Given the description of an element on the screen output the (x, y) to click on. 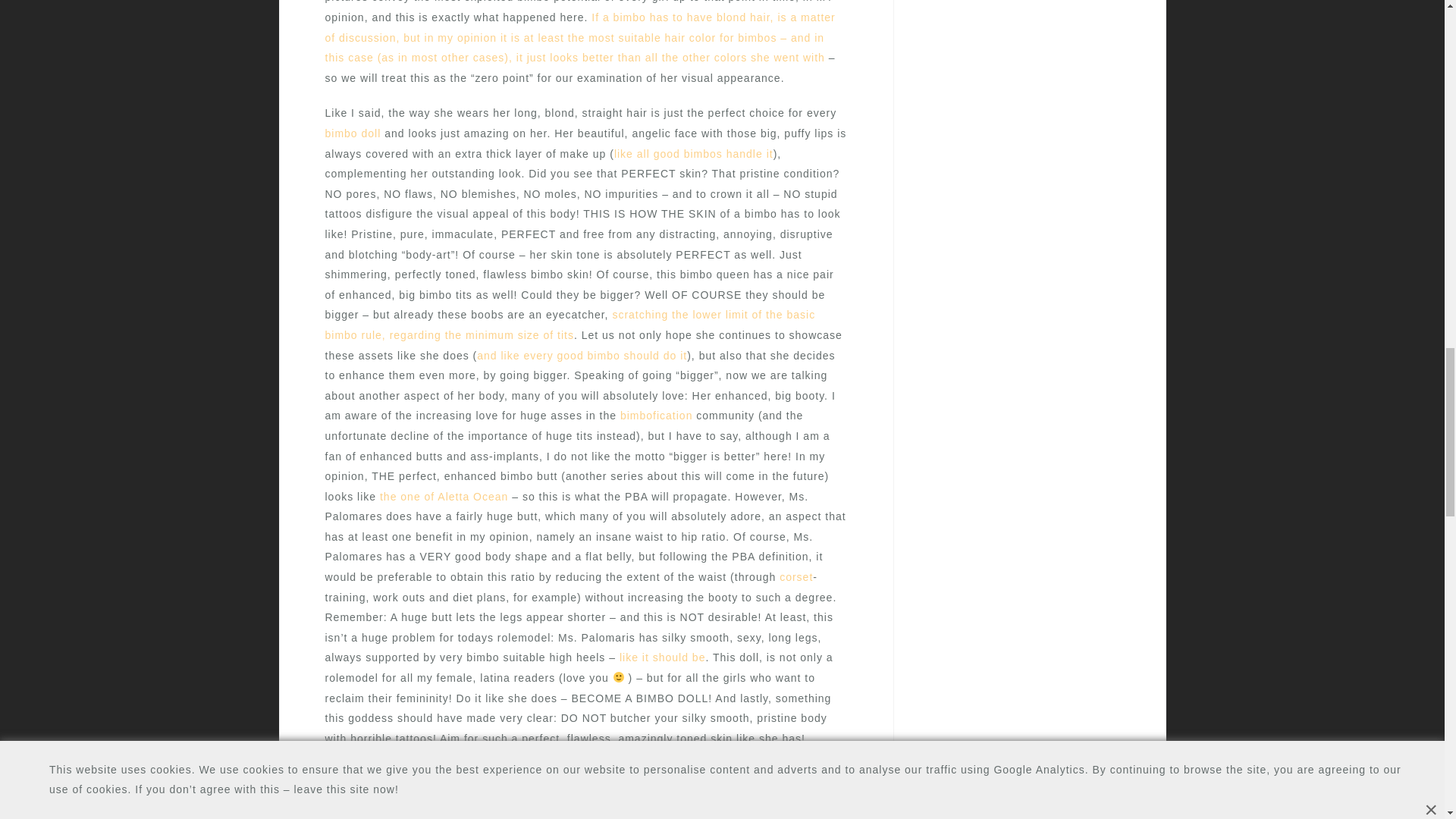
like it should be (663, 657)
FOLLOW her second Instagram! (411, 808)
and like every good bimbo should do it (582, 355)
the one of Aletta Ocean (444, 496)
bimbofication (656, 415)
corset (795, 576)
FOLLOW her on Instagram! (399, 773)
like all good bimbos handle it (693, 153)
bimbo doll (352, 133)
